Given the description of an element on the screen output the (x, y) to click on. 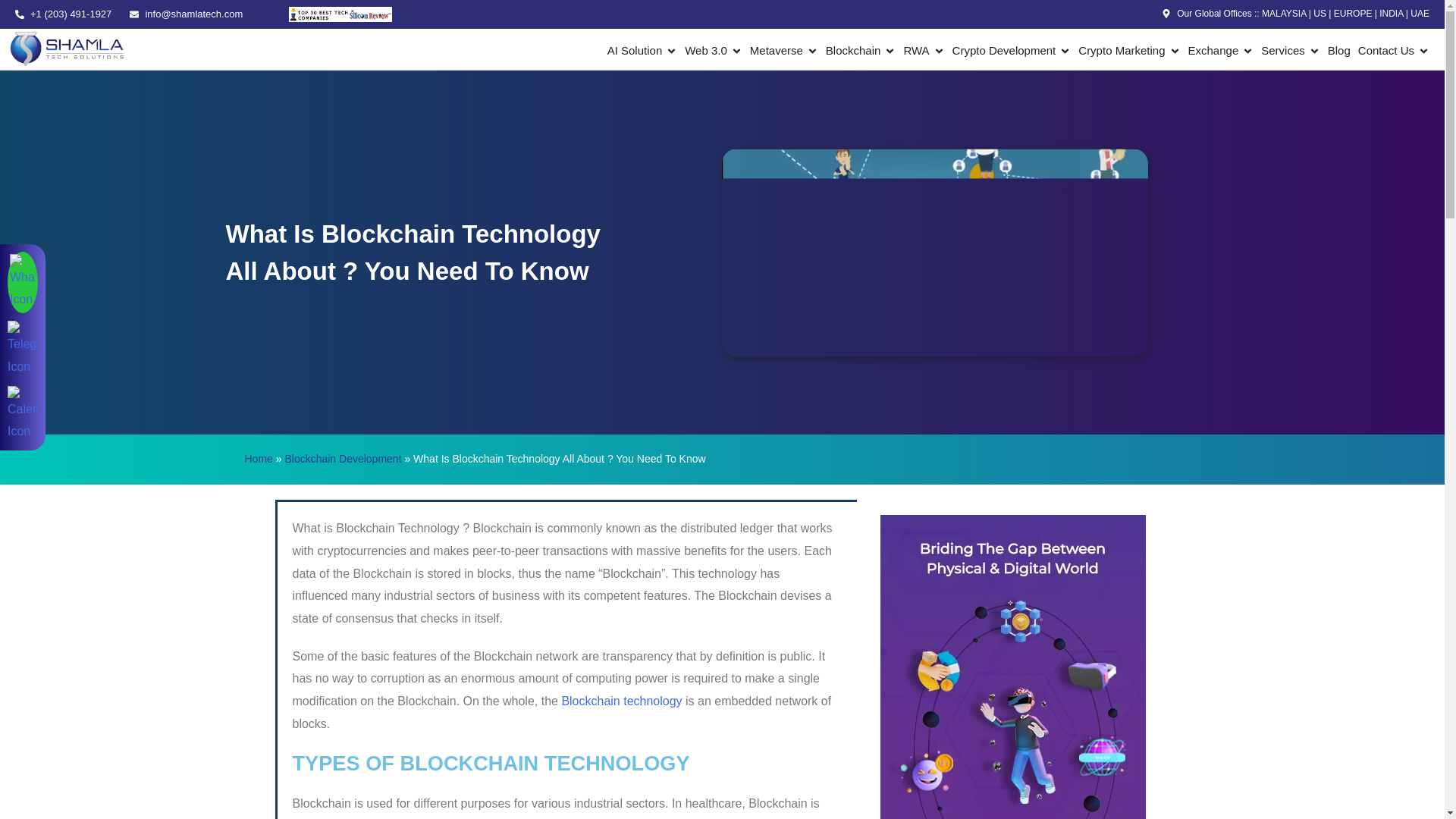
Web 3.0 (705, 50)
AI Solution (634, 50)
